Given the description of an element on the screen output the (x, y) to click on. 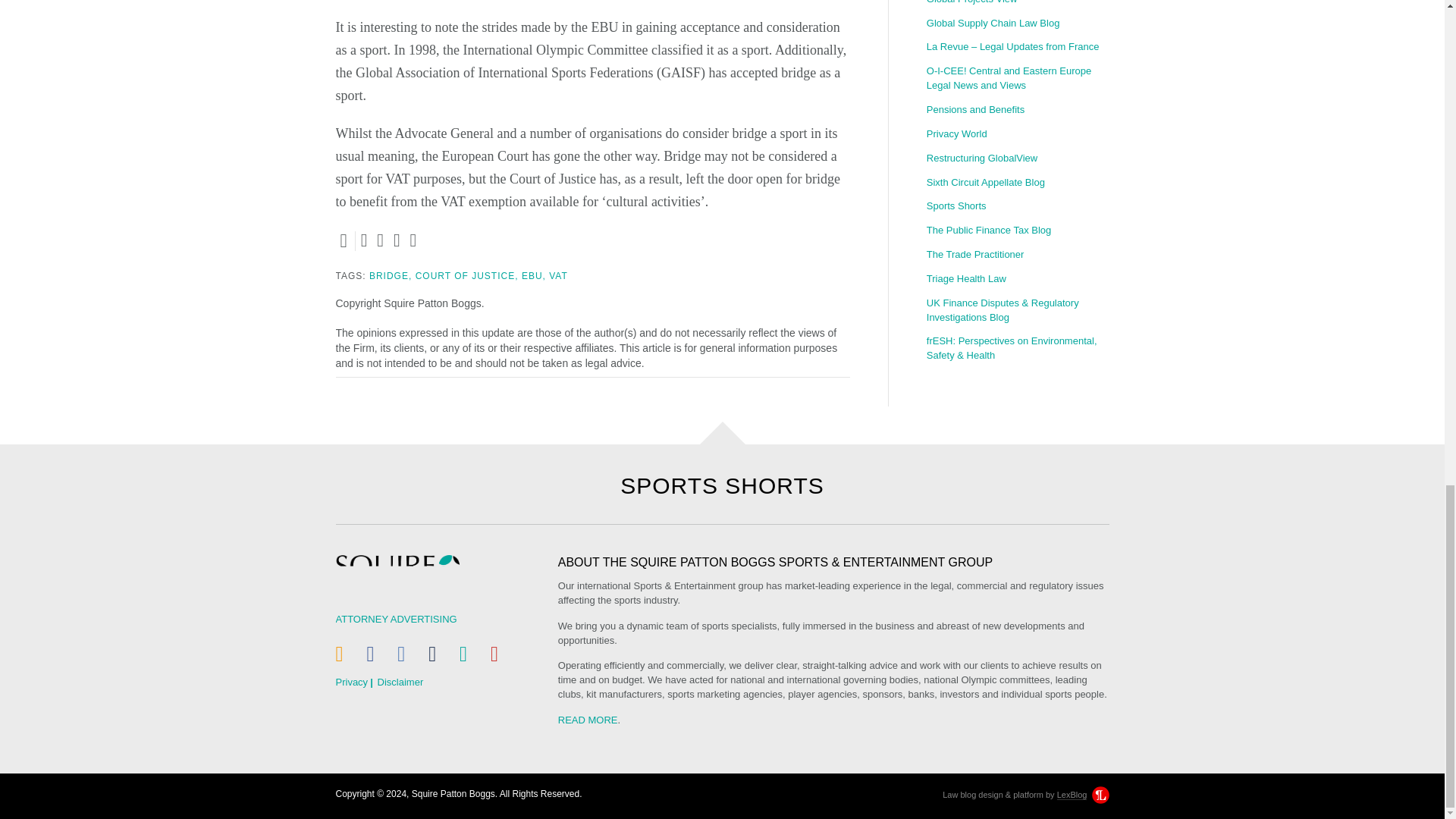
BRIDGE, (390, 276)
COURT OF JUSTICE, (466, 276)
EBU, (533, 276)
VAT (557, 276)
